Given the description of an element on the screen output the (x, y) to click on. 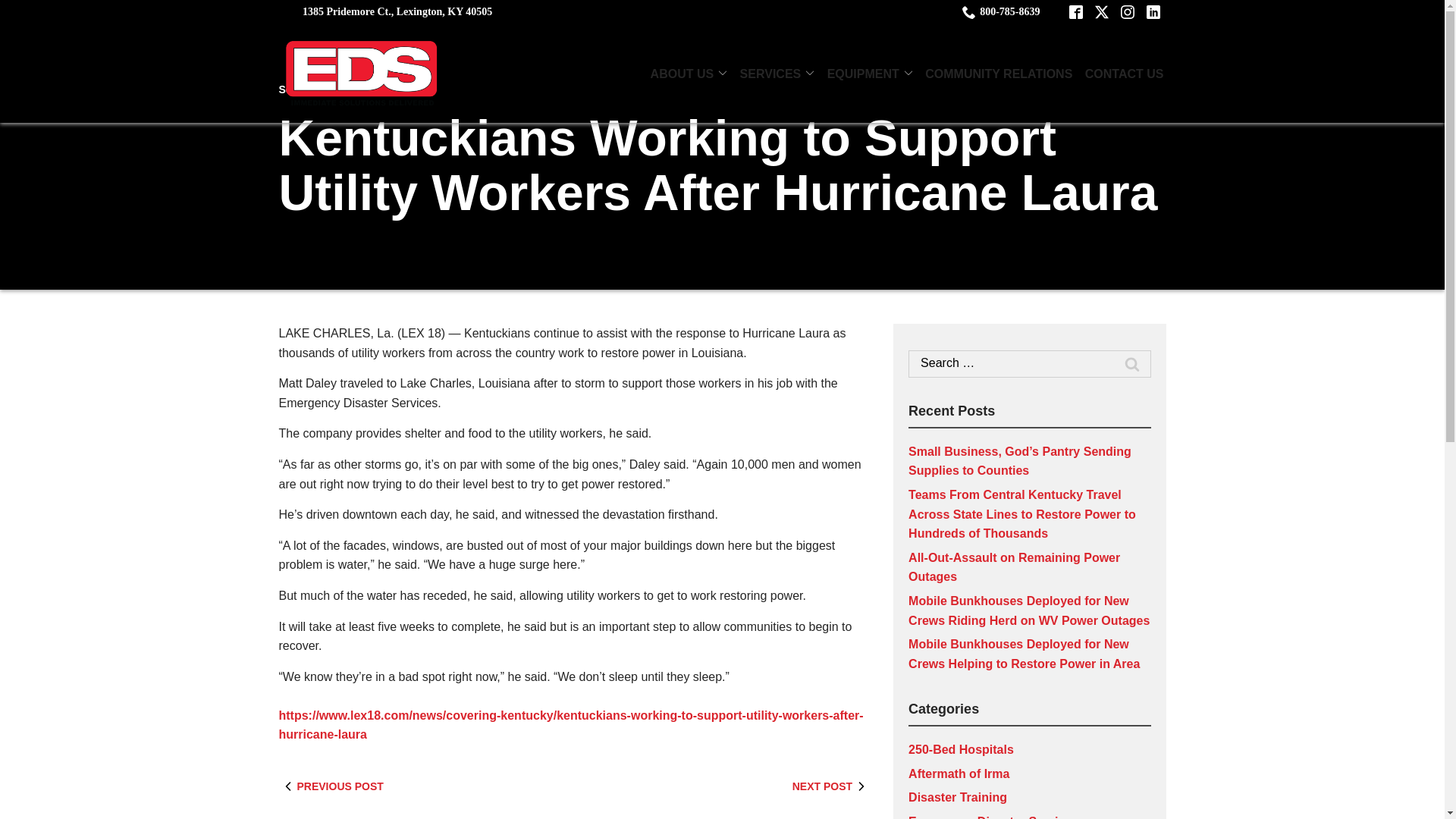
1385 Pridemore Ct., Lexington, KY 40505 (397, 12)
EQUIPMENT (869, 73)
SERVICES (777, 73)
ABOUT US (689, 73)
800-785-8639 (1000, 12)
COMMUNITY RELATIONS (997, 73)
CONTACT US (1123, 73)
